Given the description of an element on the screen output the (x, y) to click on. 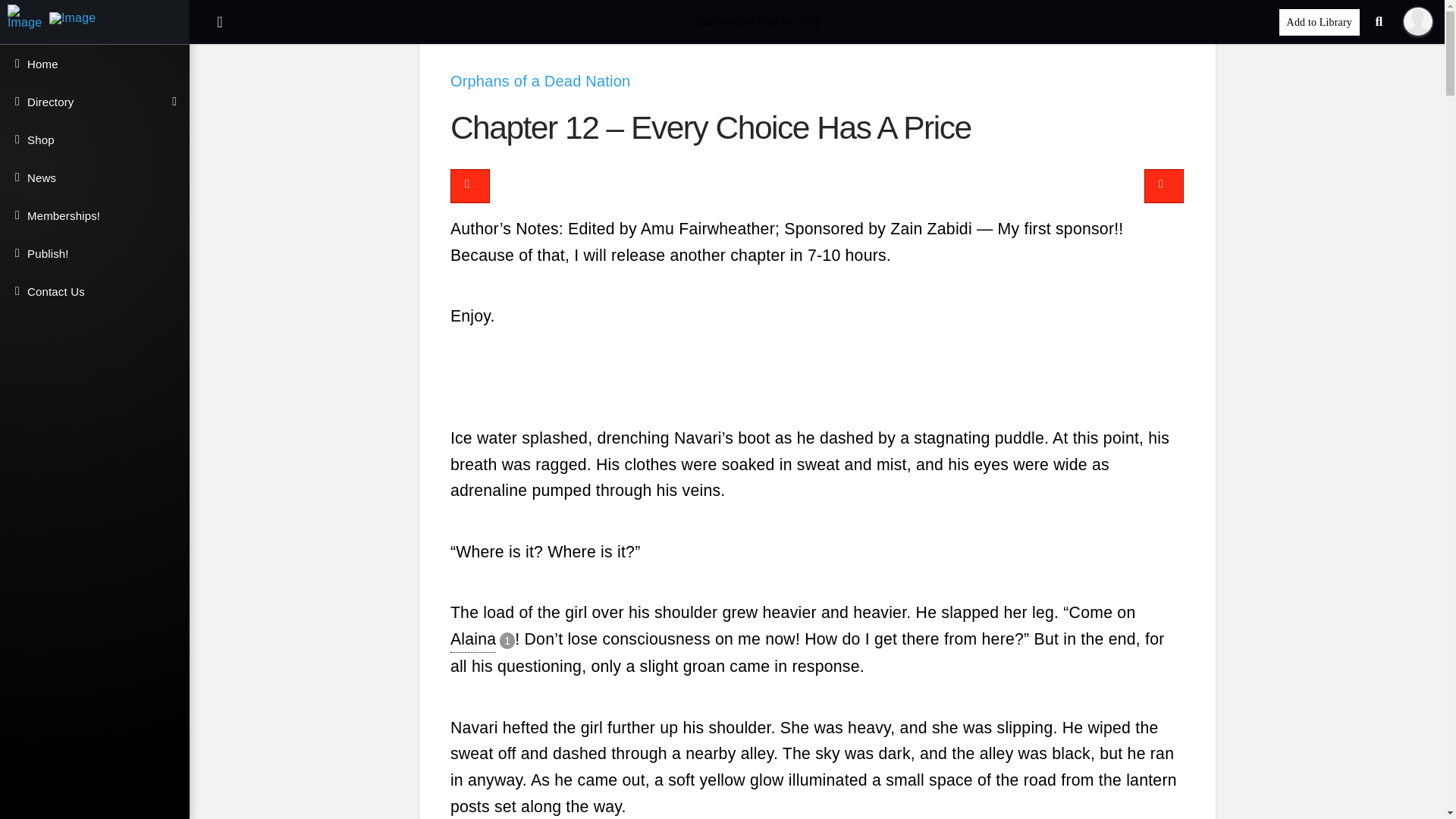
Directory (94, 101)
Shop (94, 139)
Publish! (94, 252)
Memberships! (94, 215)
Orphans of a Dead Nation (539, 80)
Contact Us (94, 290)
Home (94, 63)
News (94, 177)
